Given the description of an element on the screen output the (x, y) to click on. 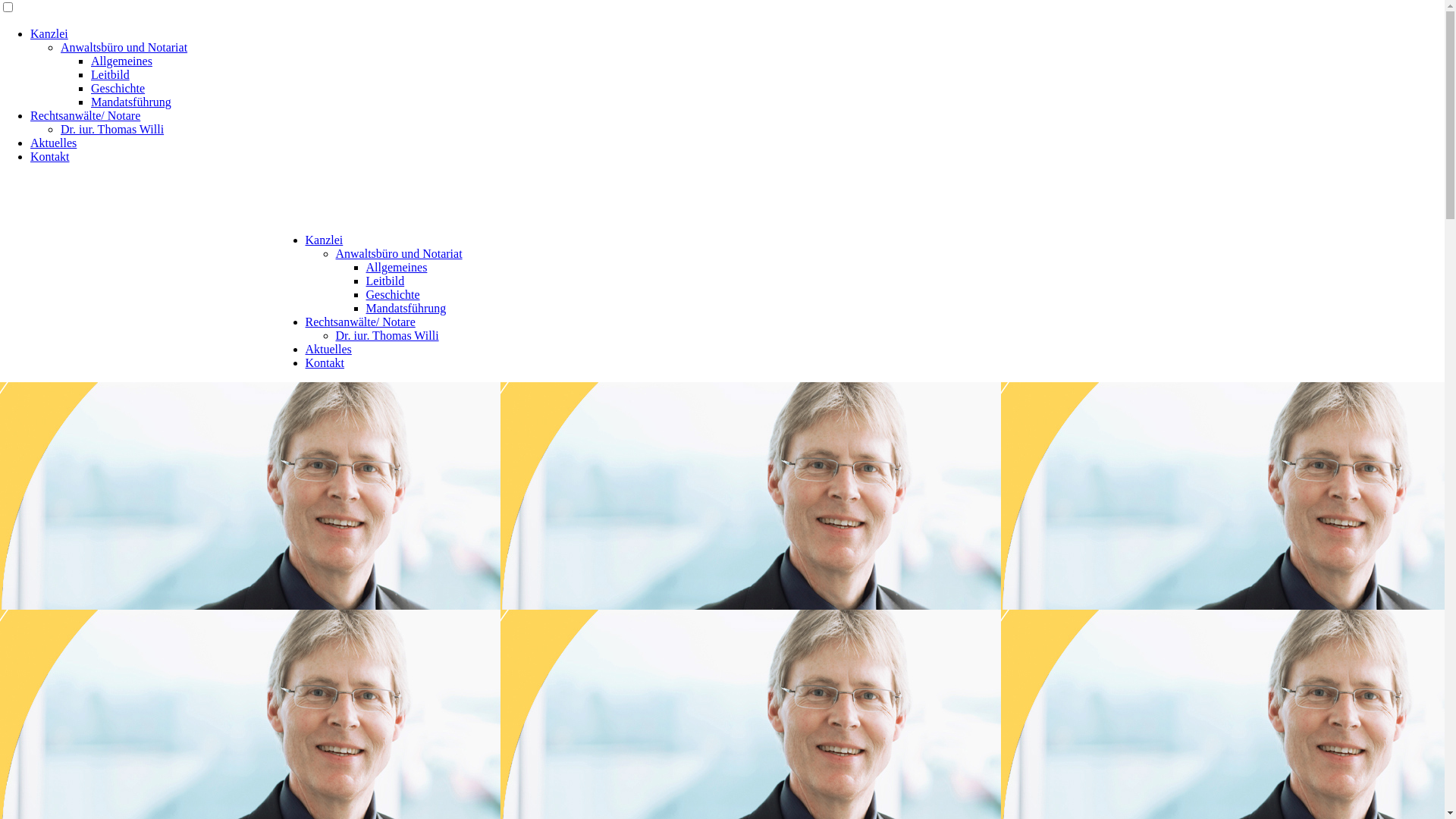
Kontakt Element type: text (49, 156)
Leitbild Element type: text (110, 74)
Geschichte Element type: text (117, 87)
Kontakt Element type: text (324, 362)
Allgemeines Element type: text (121, 60)
Aktuelles Element type: text (327, 348)
Aktuelles Element type: text (53, 142)
Dr. iur. Thomas Willi Element type: text (386, 335)
Leitbild Element type: text (384, 280)
Kanzlei Element type: text (323, 239)
Allgemeines Element type: text (395, 266)
Dr. iur. Thomas Willi Element type: text (111, 128)
Geschichte Element type: text (392, 294)
Kanzlei Element type: text (49, 33)
